Given the description of an element on the screen output the (x, y) to click on. 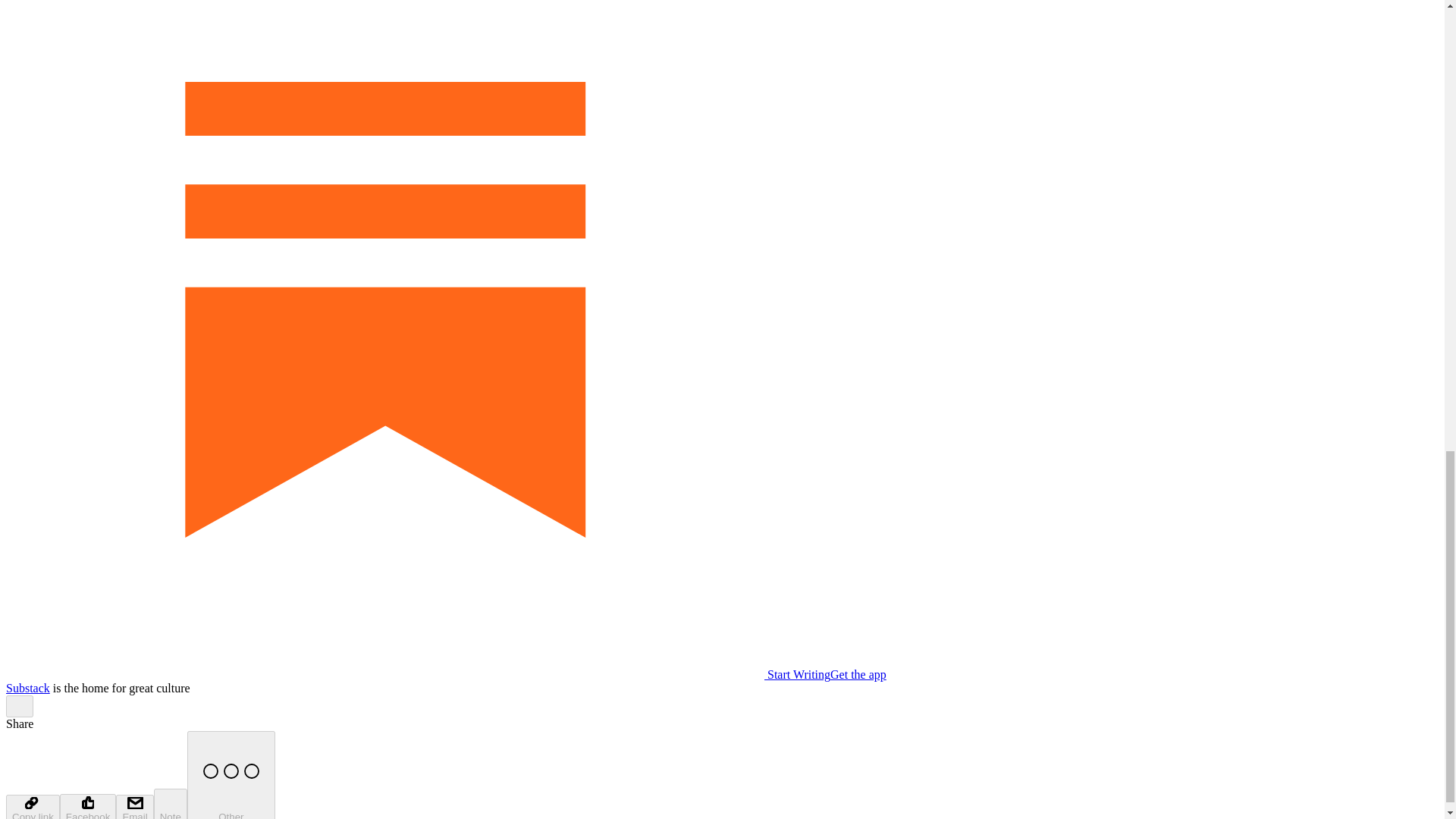
Get the app (857, 674)
Start Writing (417, 674)
Substack (27, 687)
